Given the description of an element on the screen output the (x, y) to click on. 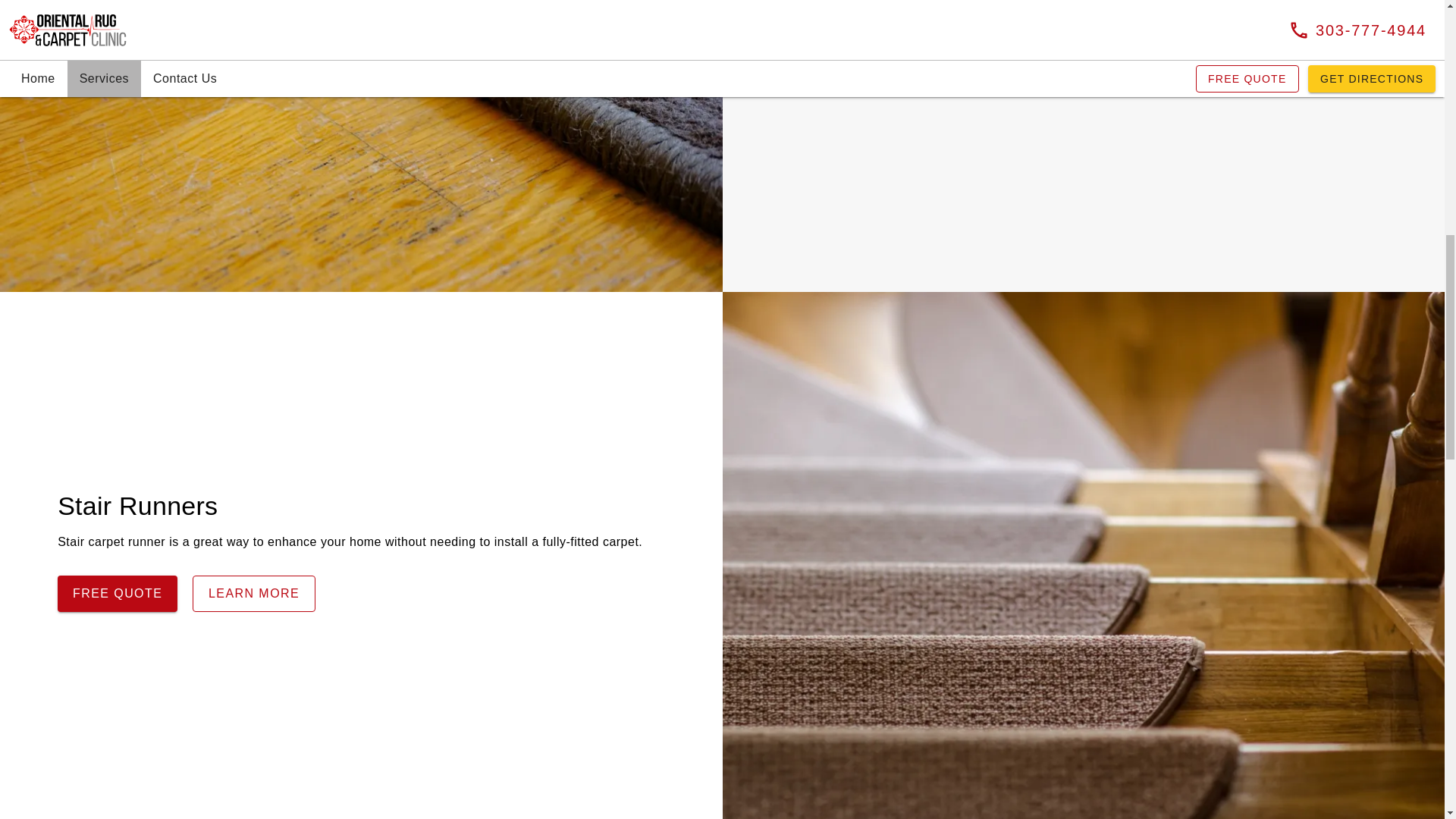
LEARN MORE (976, 72)
LEARN MORE (253, 593)
FREE QUOTE (839, 72)
FREE QUOTE (117, 593)
